Given the description of an element on the screen output the (x, y) to click on. 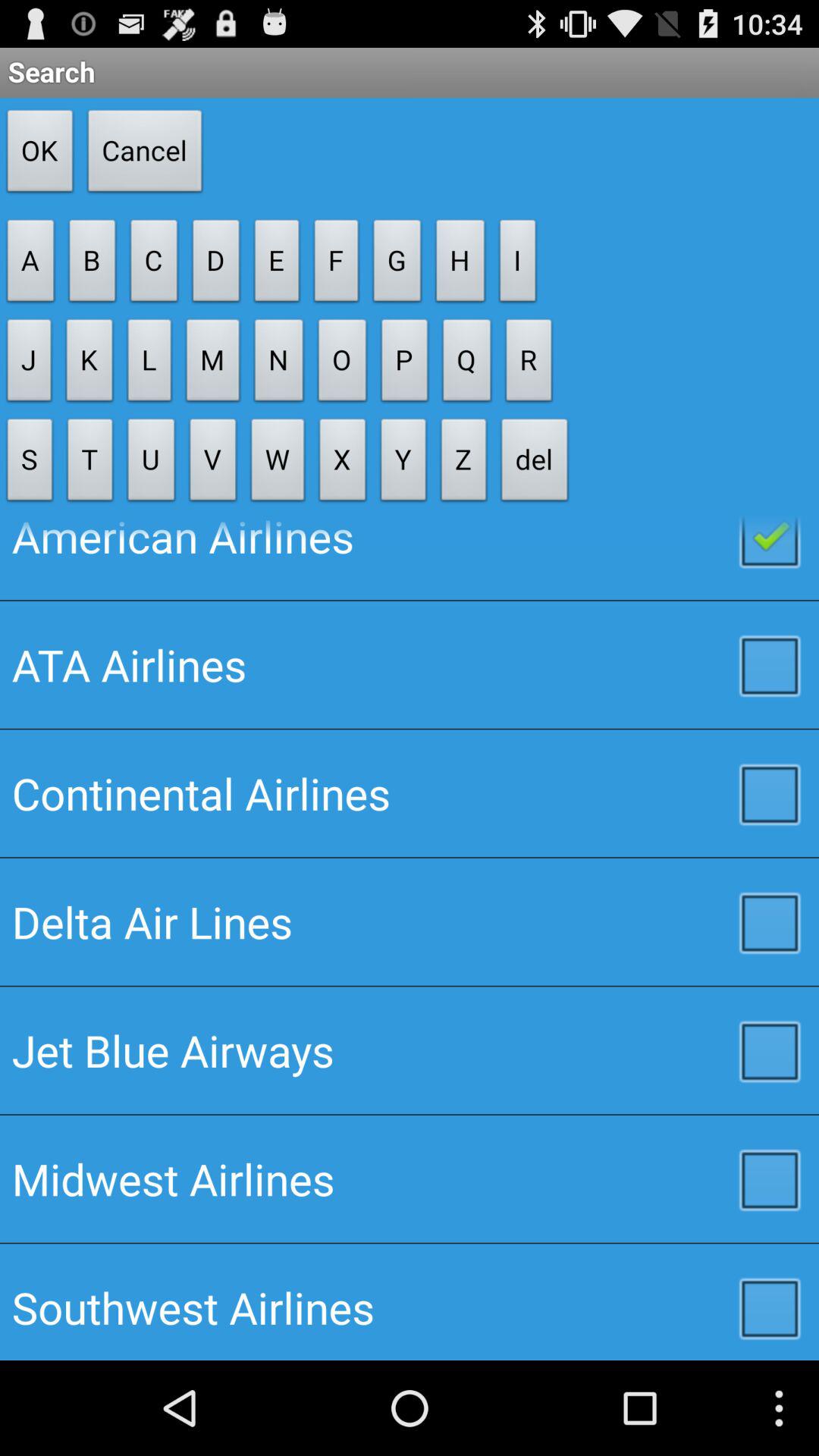
launch item above continental airlines checkbox (409, 664)
